Given the description of an element on the screen output the (x, y) to click on. 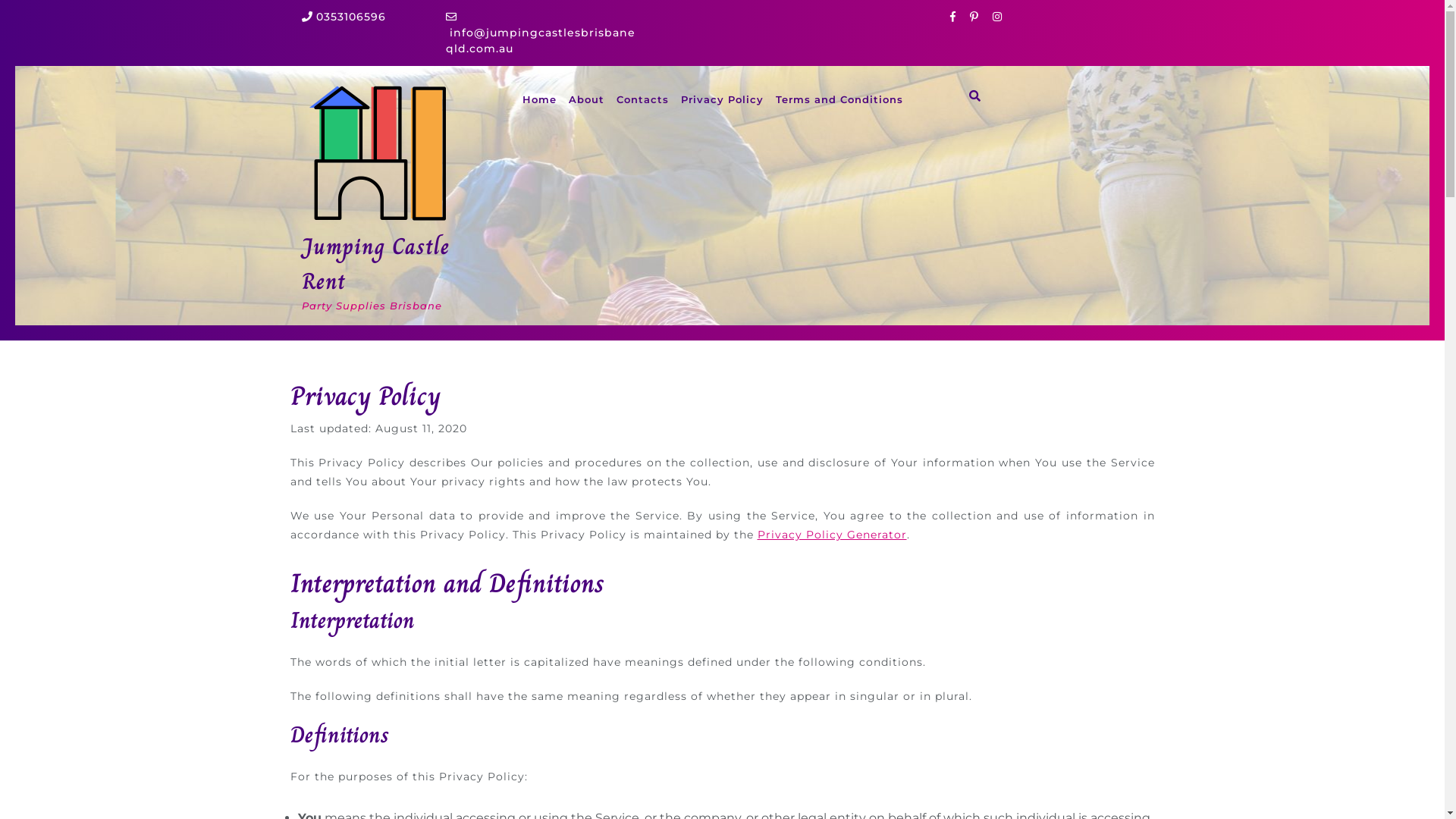
Facebook Element type: text (957, 16)
Terms and Conditions Element type: text (838, 99)
Pinterest Element type: text (978, 16)
Home Element type: text (538, 99)
Instagram Element type: text (1001, 16)
About Element type: text (586, 99)
Privacy Policy Element type: text (722, 99)
Jumping Castle Rent Element type: text (375, 263)
Privacy Policy Generator Element type: text (831, 534)
Contacts Element type: text (641, 99)
